Given the description of an element on the screen output the (x, y) to click on. 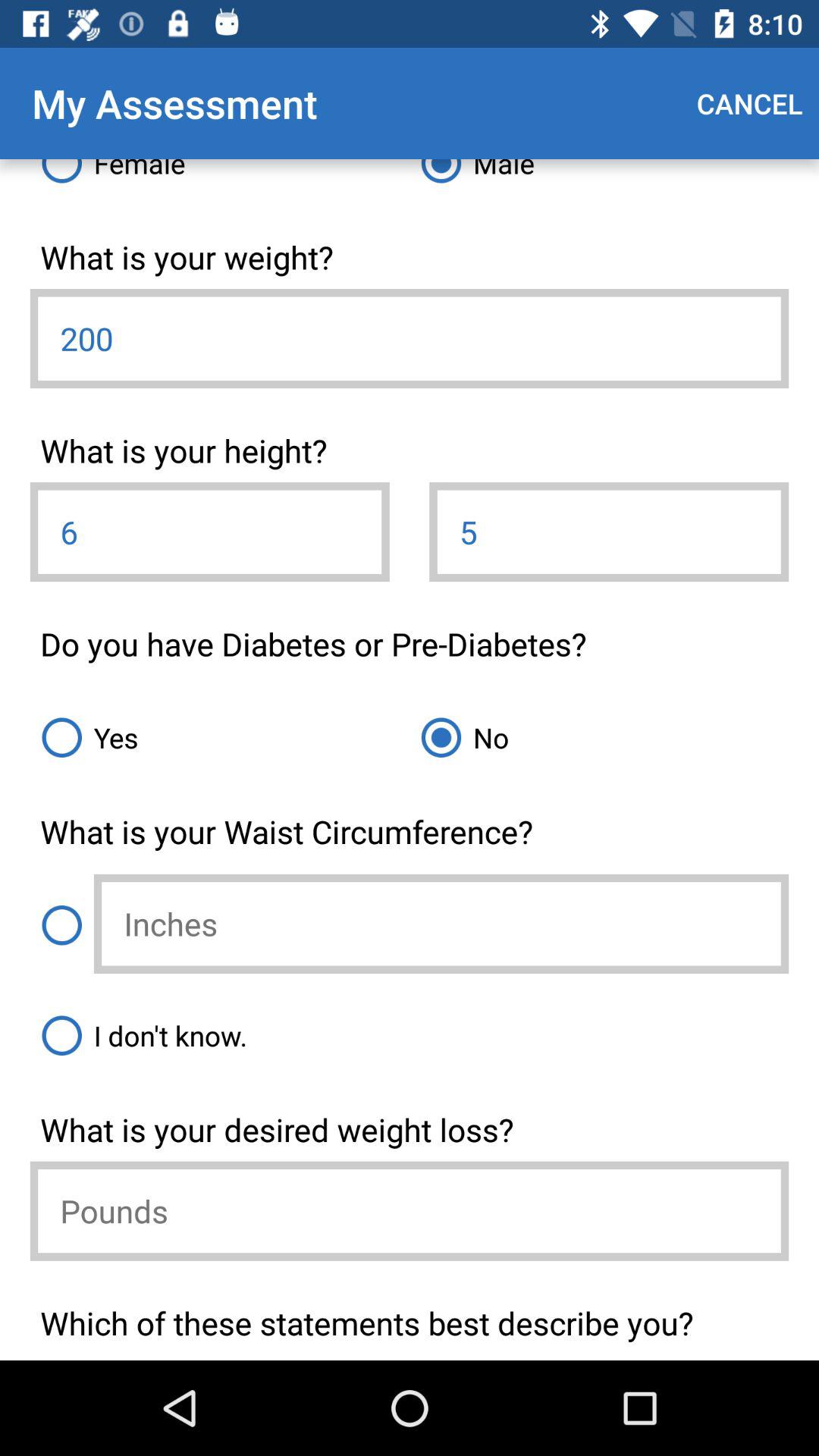
jump until the 200 item (409, 338)
